Given the description of an element on the screen output the (x, y) to click on. 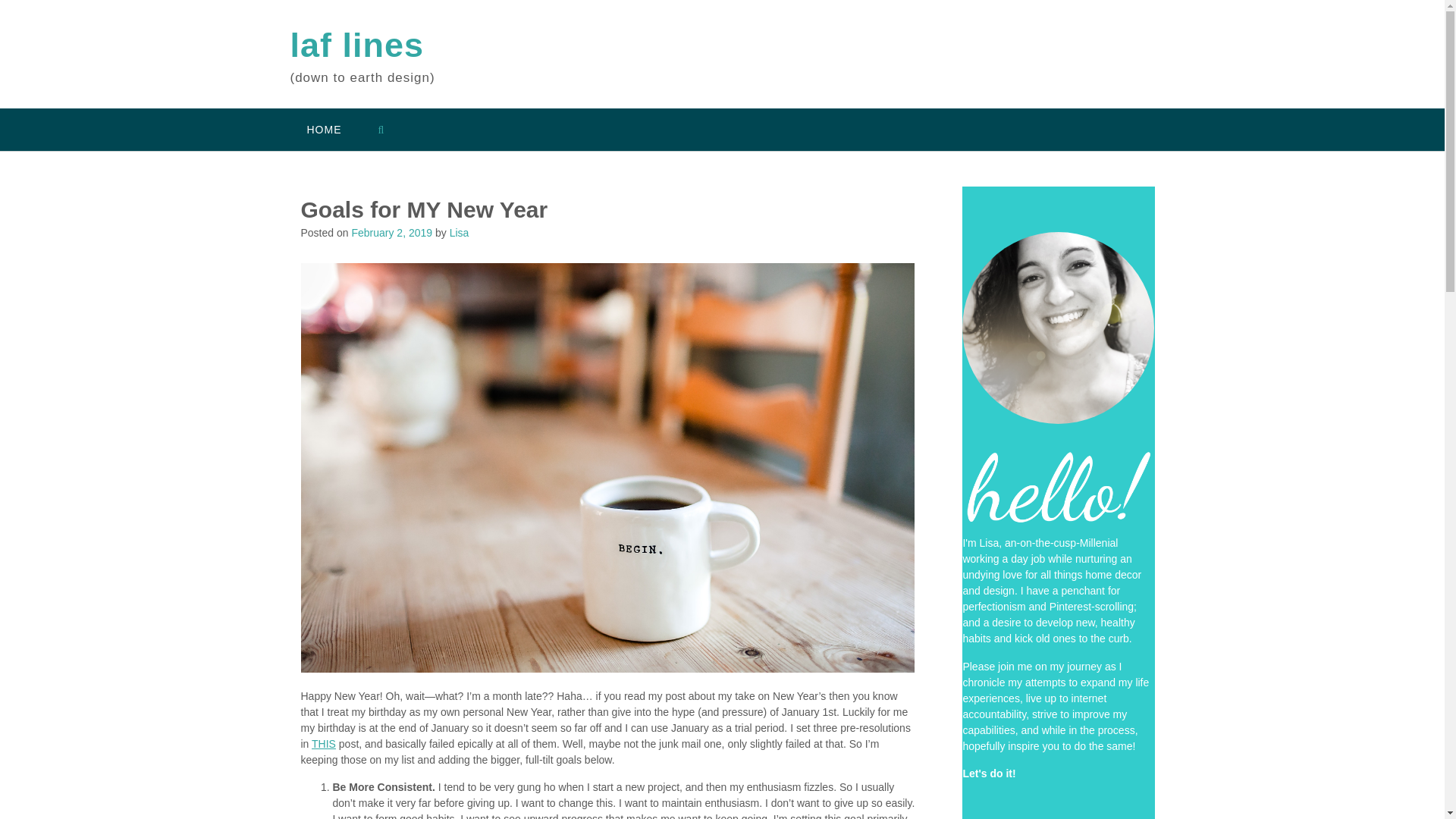
HOME (323, 129)
laf lines (356, 45)
THIS (323, 743)
February 2, 2019 (391, 232)
Lisa (458, 232)
laf lines (356, 45)
